Given the description of an element on the screen output the (x, y) to click on. 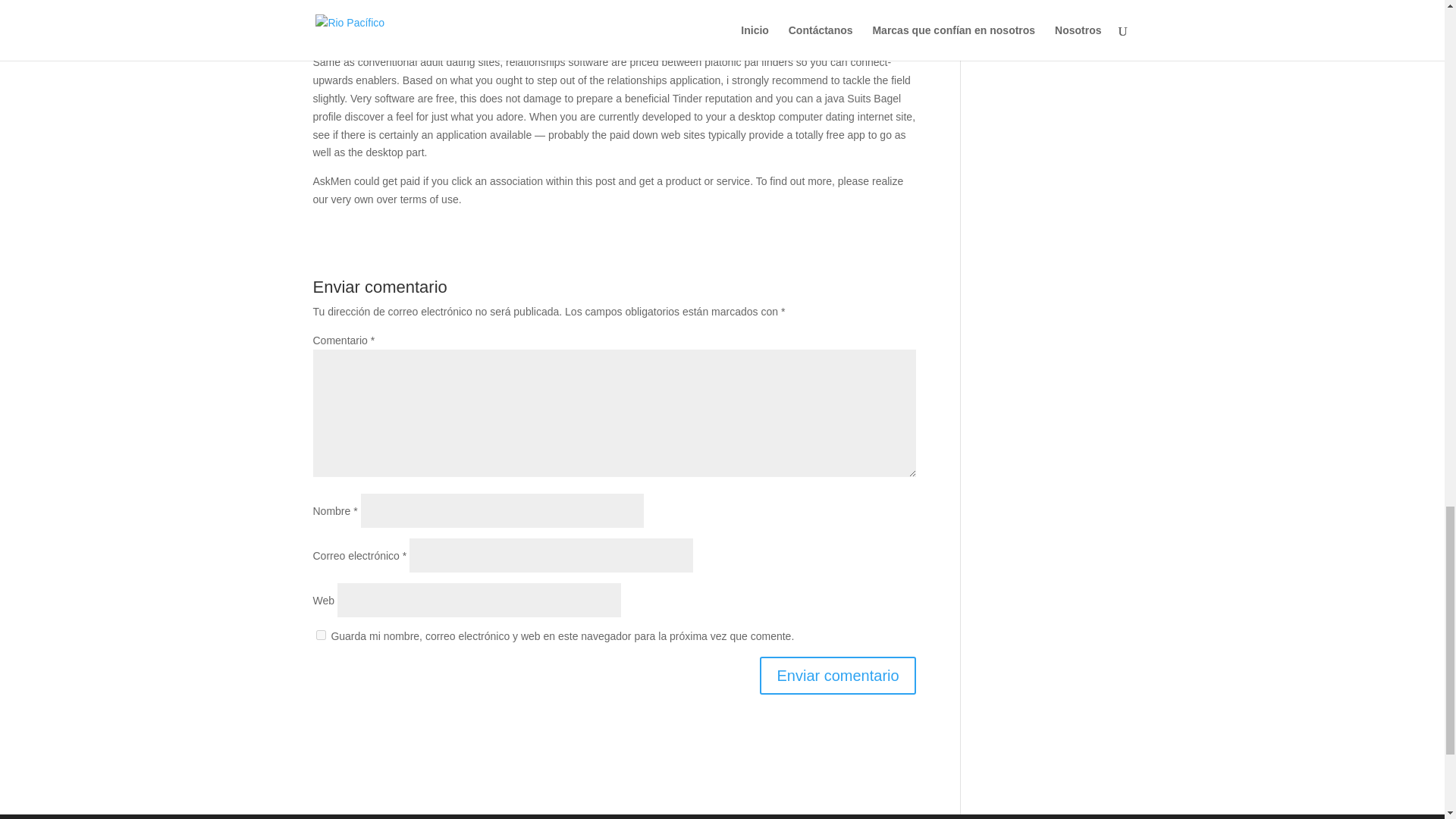
Enviar comentario (837, 675)
yes (319, 634)
Enviar comentario (837, 675)
